Given the description of an element on the screen output the (x, y) to click on. 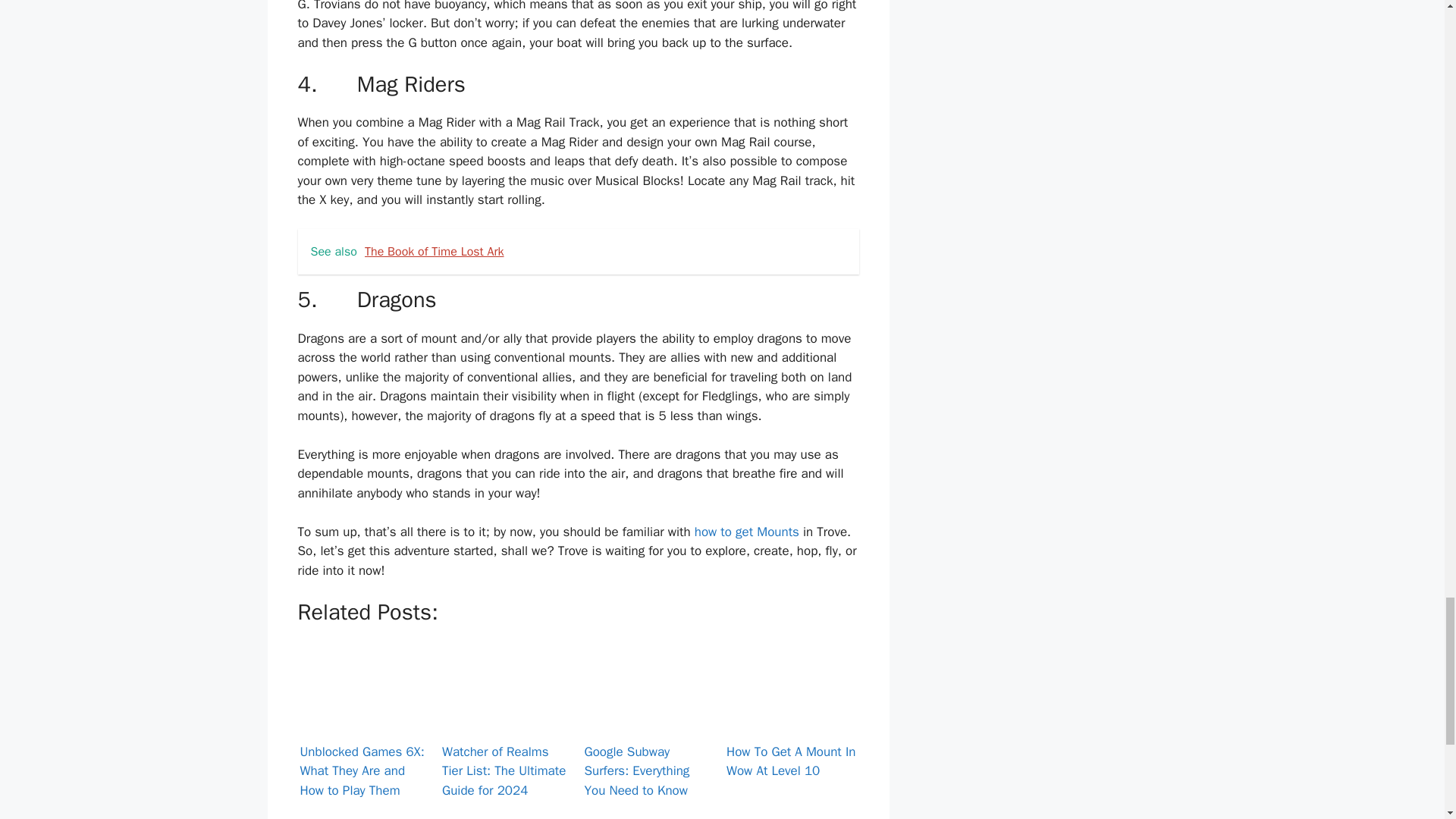
Watcher of Realms Tier List: The Ultimate Guide for 2024 (506, 685)
How Do I Get A Mount In Final Fantasy 14? (364, 815)
GTA 5 Stripper Club Location: Everything You Need to Know! (506, 815)
Unblocked Games 6X: What They Are and How to Play Them (364, 685)
List of 66 Best io Games to Play with Friends in 2024 (791, 815)
Google Subway Surfers: Everything You Need to Know (649, 685)
How To Get A Mount In Wow At Level 10 (791, 685)
